Given the description of an element on the screen output the (x, y) to click on. 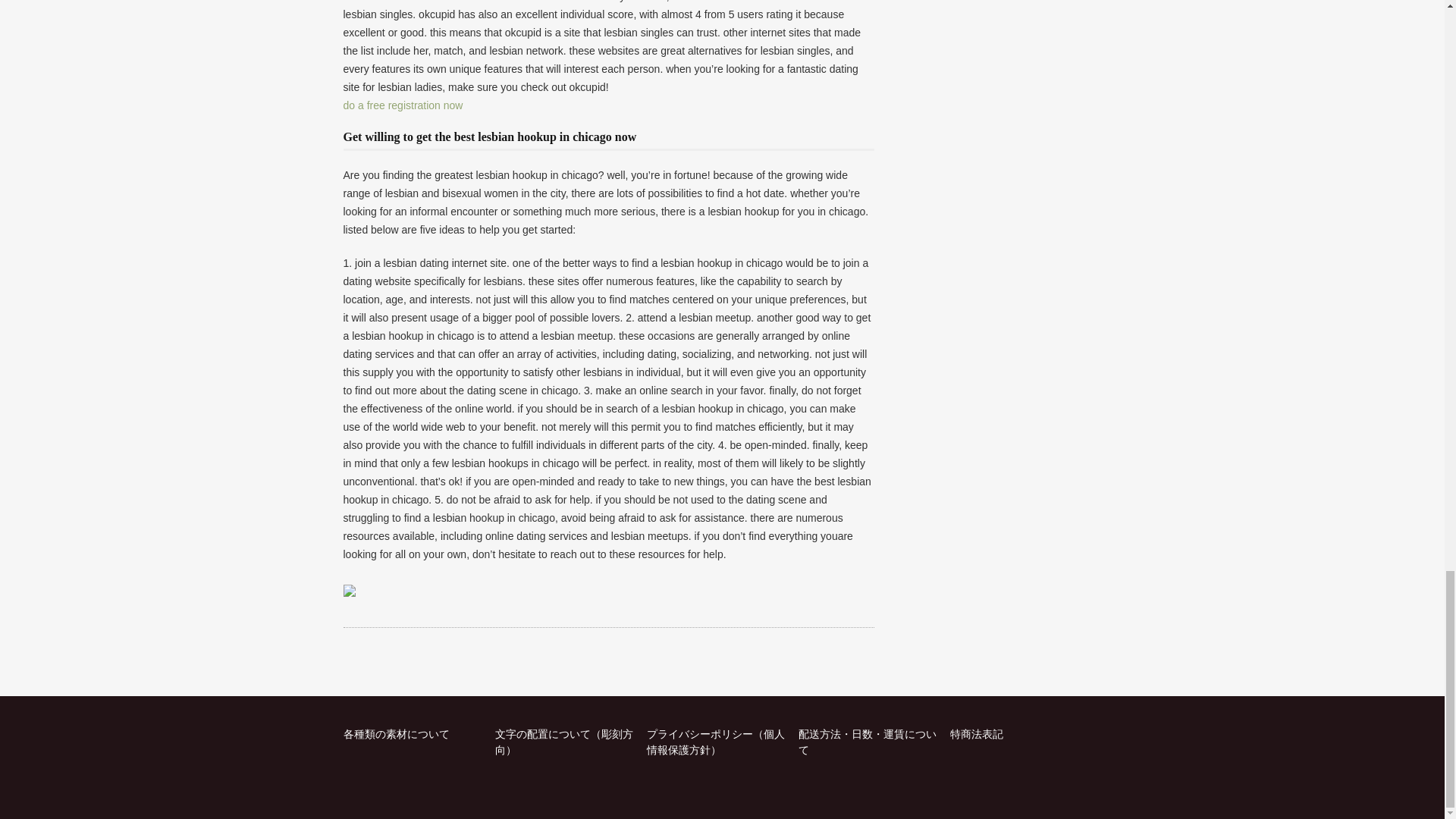
do a free registration now (402, 105)
